Given the description of an element on the screen output the (x, y) to click on. 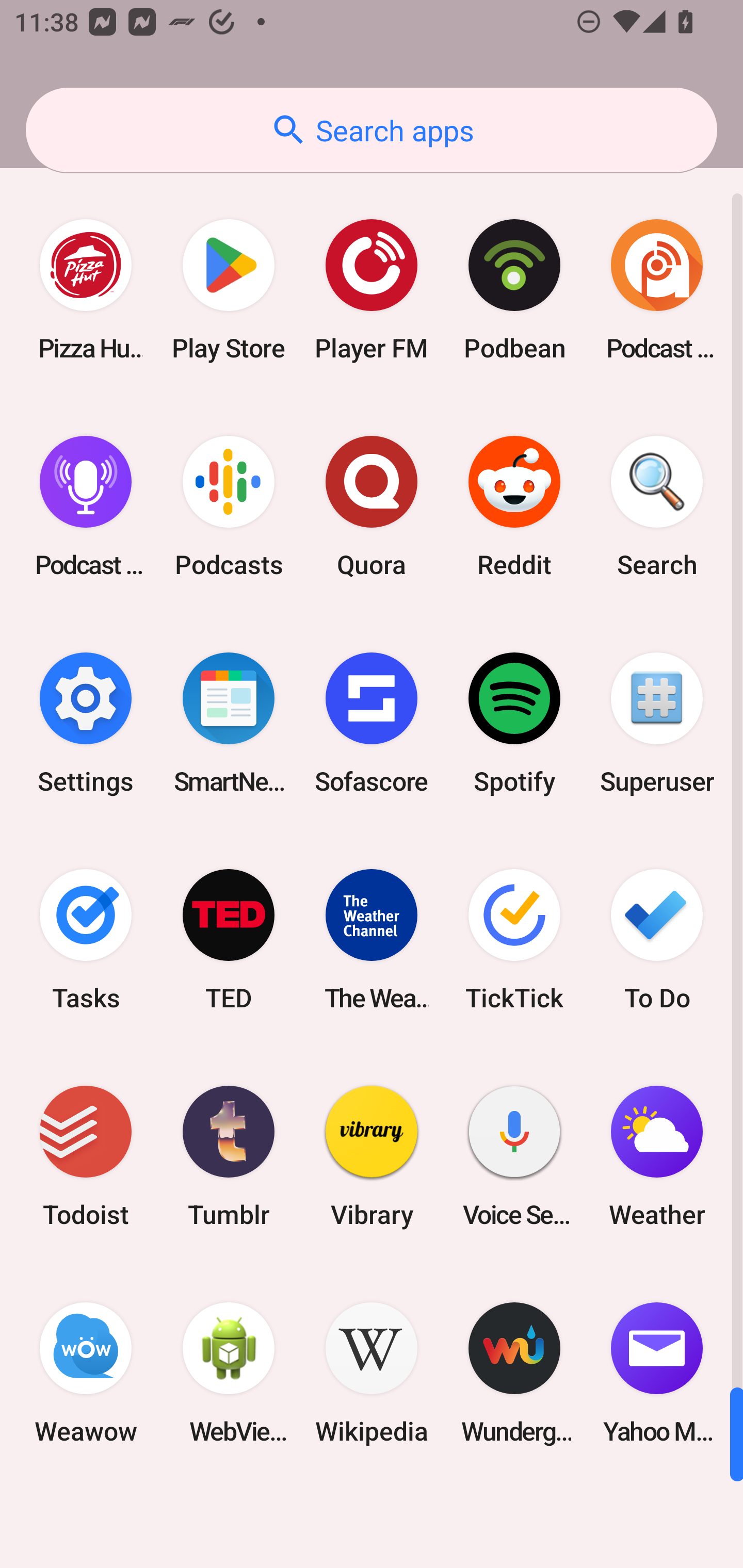
  Search apps (371, 130)
Pizza Hut HK & Macau (85, 289)
Play Store (228, 289)
Player FM (371, 289)
Podbean (514, 289)
Podcast Addict (656, 289)
Podcast Player (85, 506)
Podcasts (228, 506)
Quora (371, 506)
Reddit (514, 506)
Search (656, 506)
Settings (85, 722)
SmartNews (228, 722)
Sofascore (371, 722)
Spotify (514, 722)
Superuser (656, 722)
Tasks (85, 939)
TED (228, 939)
The Weather Channel (371, 939)
TickTick (514, 939)
To Do (656, 939)
Todoist (85, 1156)
Tumblr (228, 1156)
Vibrary (371, 1156)
Voice Search (514, 1156)
Weather (656, 1156)
Weawow (85, 1373)
WebView Browser Tester (228, 1373)
Wikipedia (371, 1373)
Wunderground (514, 1373)
Yahoo Mail (656, 1373)
